Given the description of an element on the screen output the (x, y) to click on. 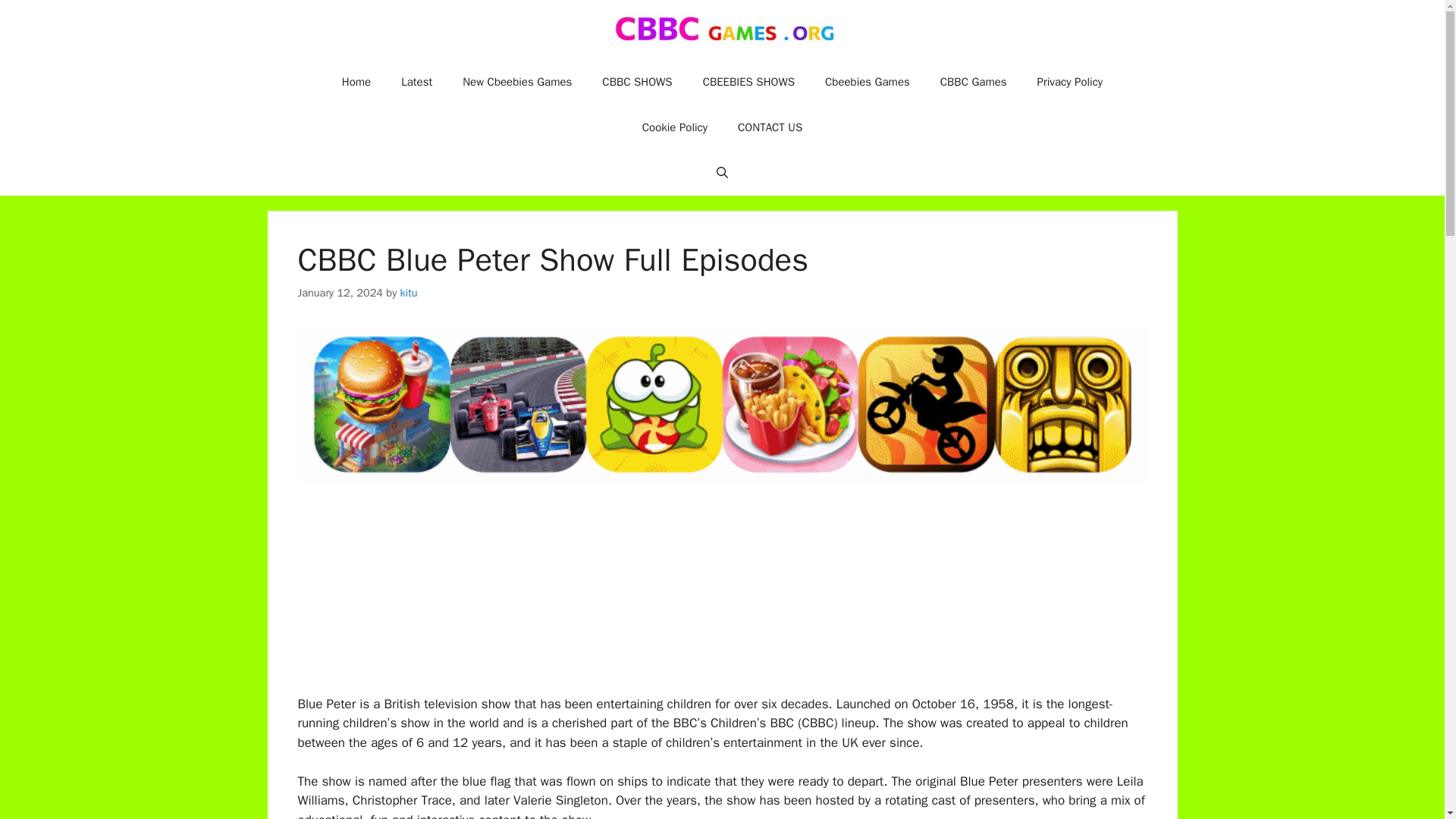
Latest (415, 81)
CBBC SHOWS (636, 81)
kitu (408, 292)
View all posts by kitu (408, 292)
Cbeebies Games (866, 81)
New Cbeebies Games (516, 81)
CBEEBIES SHOWS (748, 81)
Cookie Policy (674, 126)
Home (355, 81)
CONTACT US (769, 126)
Privacy Policy (1070, 81)
CBBC Games (973, 81)
